Given the description of an element on the screen output the (x, y) to click on. 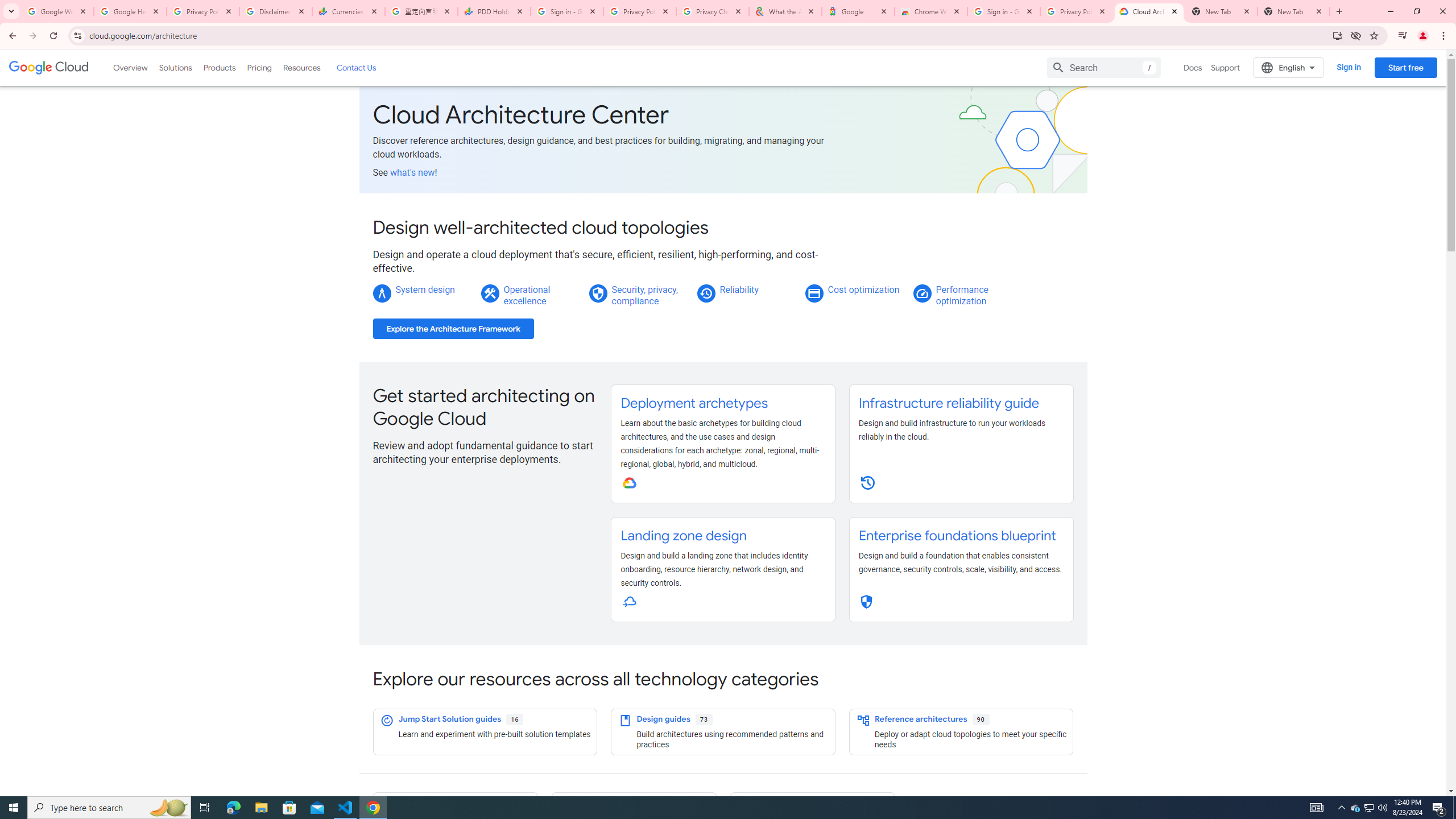
Landing zone design (683, 535)
Google (857, 11)
Solutions (175, 67)
Deployment archetypes (694, 402)
English (1288, 67)
Docs (1192, 67)
Reliability (738, 289)
